Given the description of an element on the screen output the (x, y) to click on. 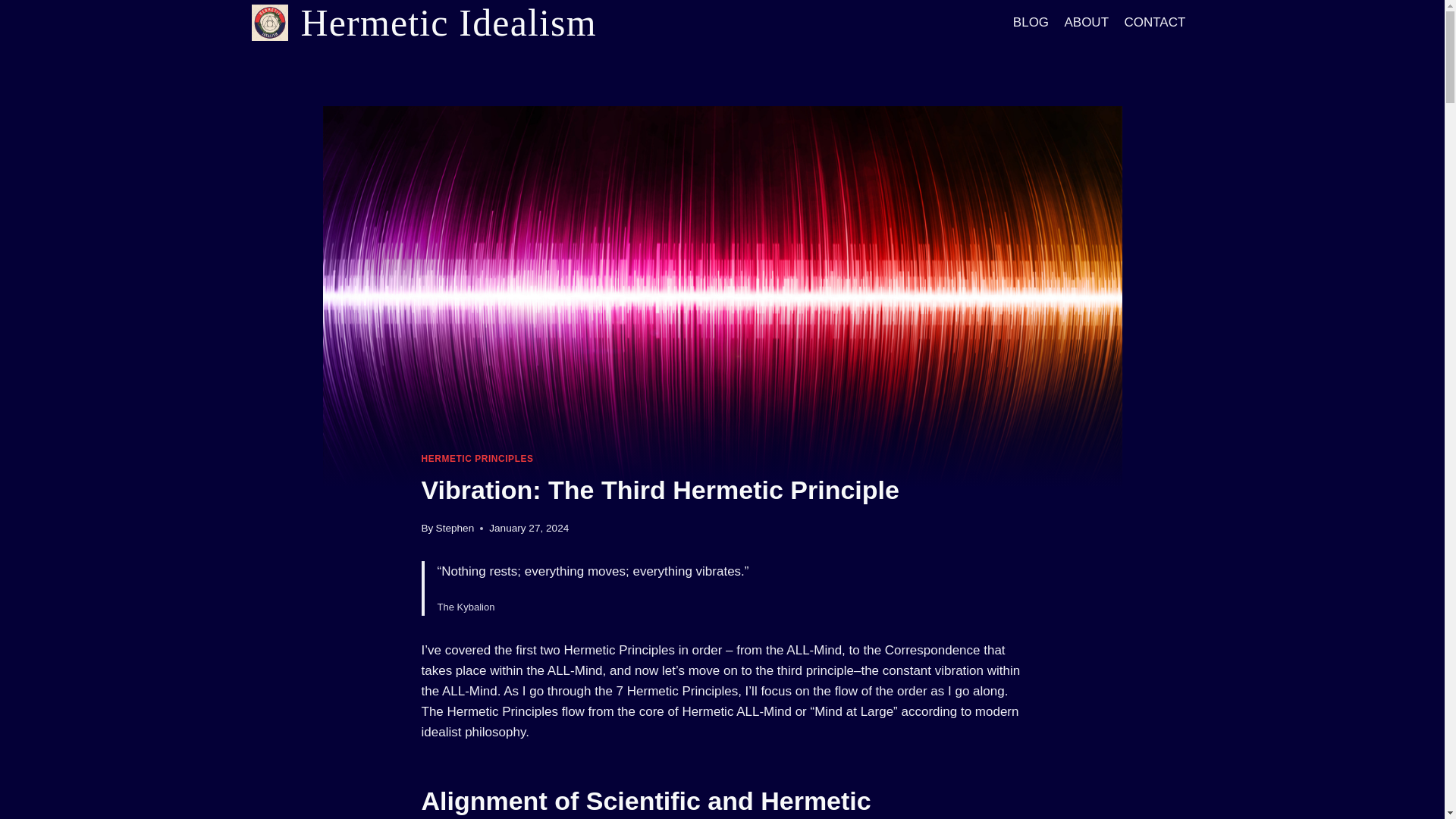
CONTACT (1154, 22)
Stephen (454, 527)
Hermetic Idealism (423, 22)
BLOG (1031, 22)
ABOUT (1086, 22)
HERMETIC PRINCIPLES (478, 458)
